Given the description of an element on the screen output the (x, y) to click on. 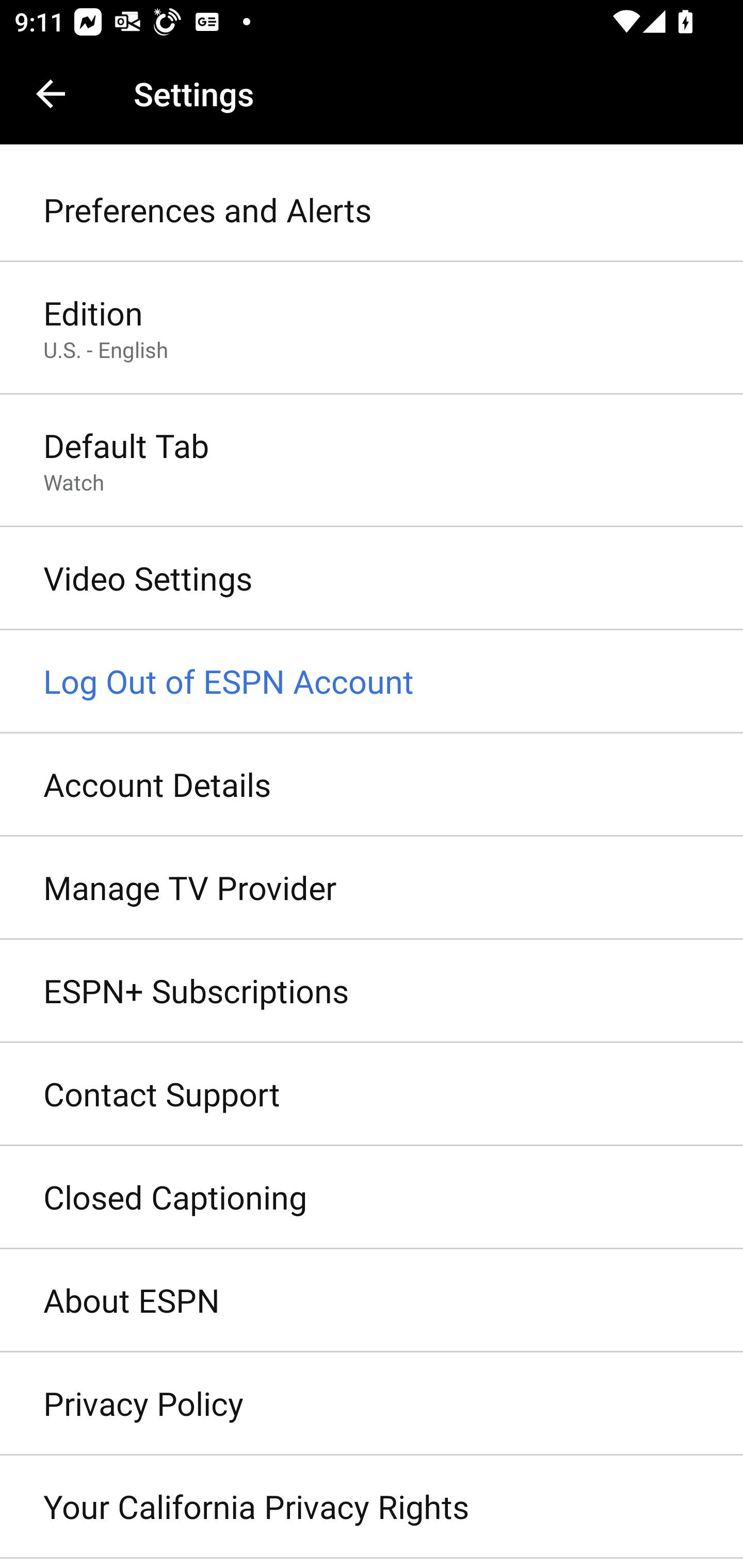
Navigate up (50, 93)
Preferences and Alerts (371, 209)
Edition U.S. - English (371, 328)
Default Tab Watch (371, 461)
Video Settings (371, 578)
Log Out of ESPN Account (371, 681)
Account Details (371, 785)
Manage TV Provider (371, 888)
ESPN+ Subscriptions (371, 990)
Contact Support (371, 1094)
Closed Captioning (371, 1197)
About ESPN (371, 1301)
Privacy Policy (371, 1403)
Your California Privacy Rights (371, 1506)
